Given the description of an element on the screen output the (x, y) to click on. 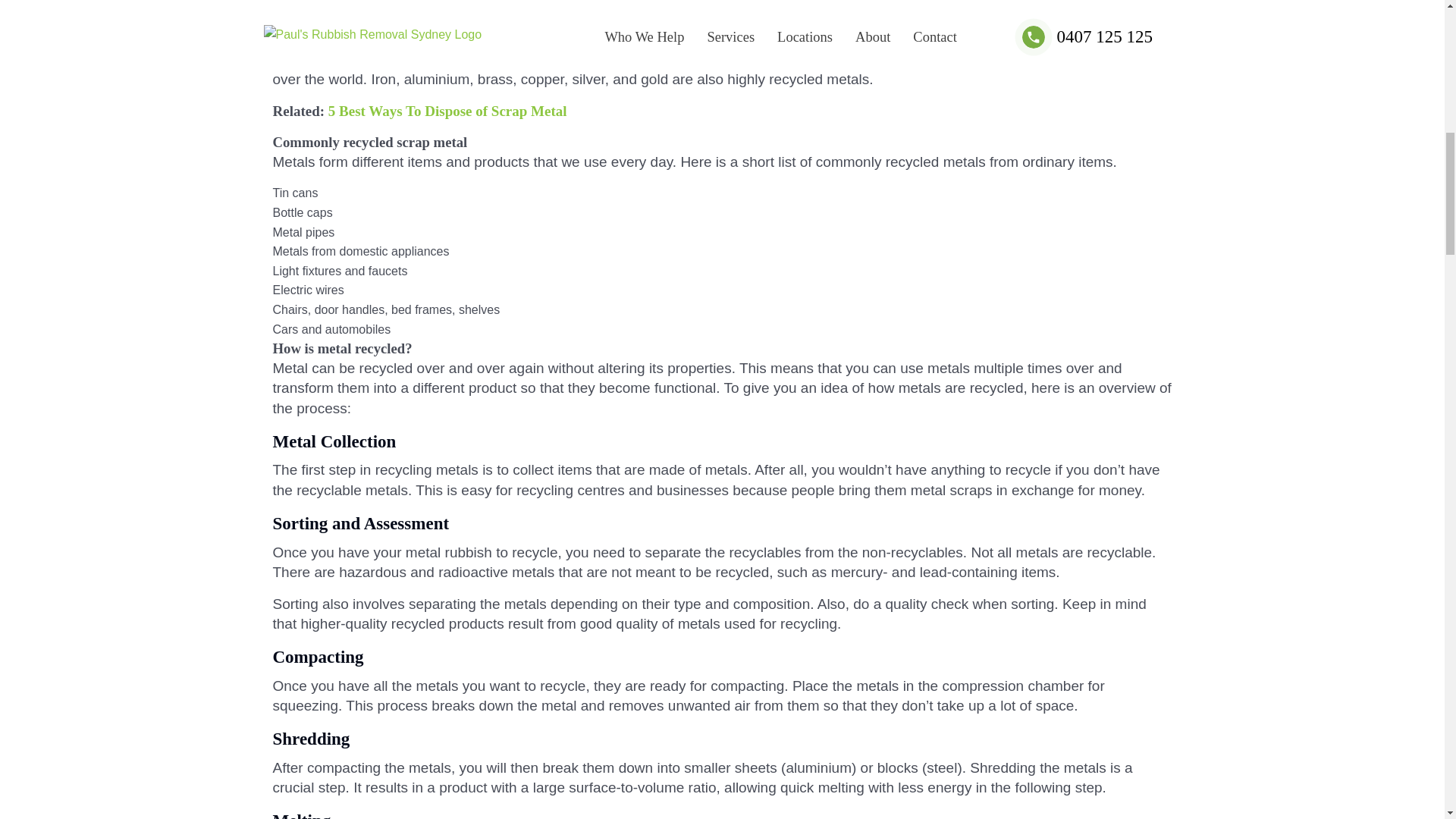
5 Best Ways To Dispose of Scrap Metal (448, 110)
